Given the description of an element on the screen output the (x, y) to click on. 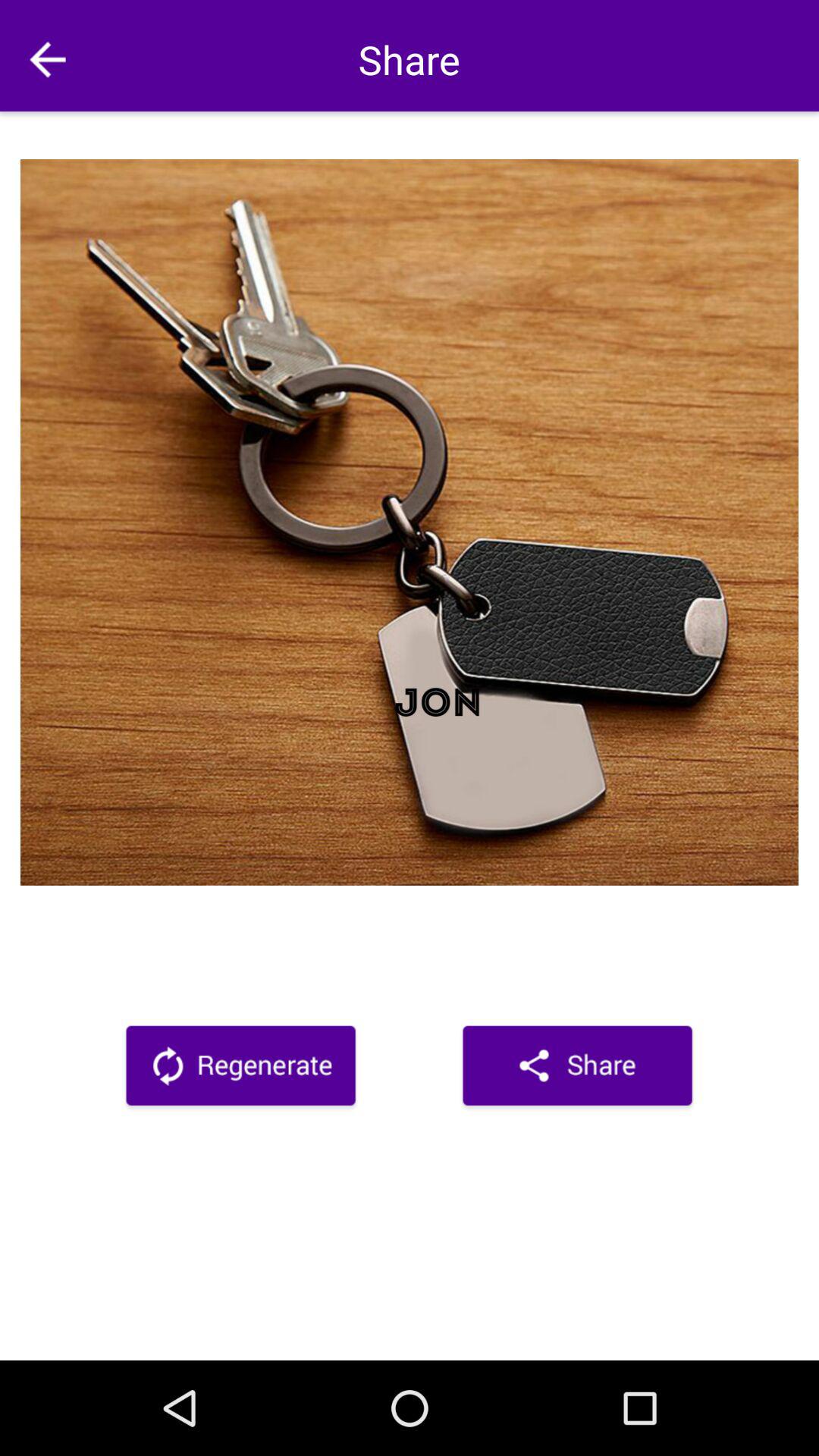
share (577, 1068)
